Given the description of an element on the screen output the (x, y) to click on. 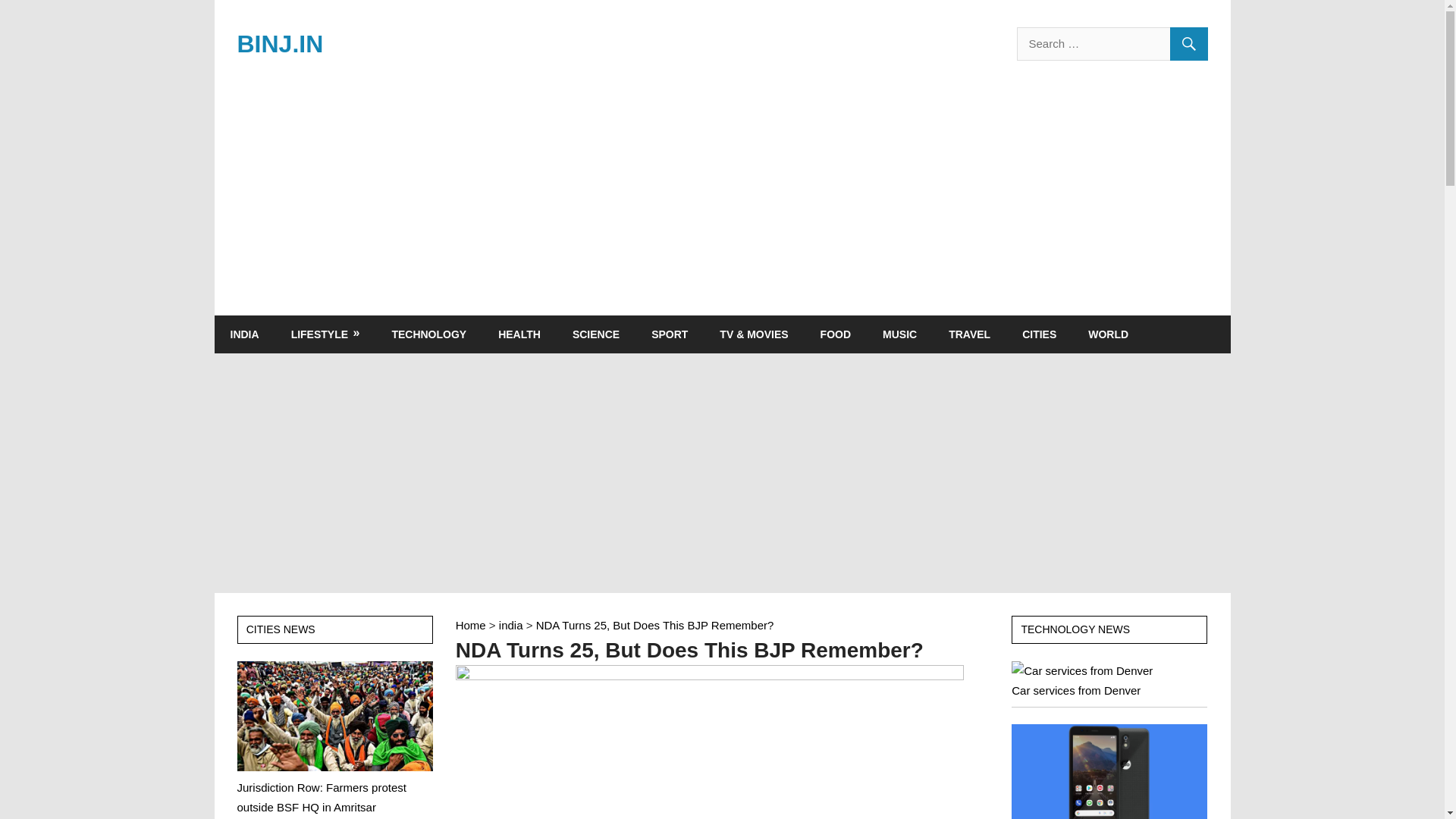
Search for: (1111, 43)
CITIES (1038, 333)
Home (470, 625)
india (510, 625)
LIFESTYLE (325, 333)
MUSIC (899, 333)
SPORT (668, 333)
